Given the description of an element on the screen output the (x, y) to click on. 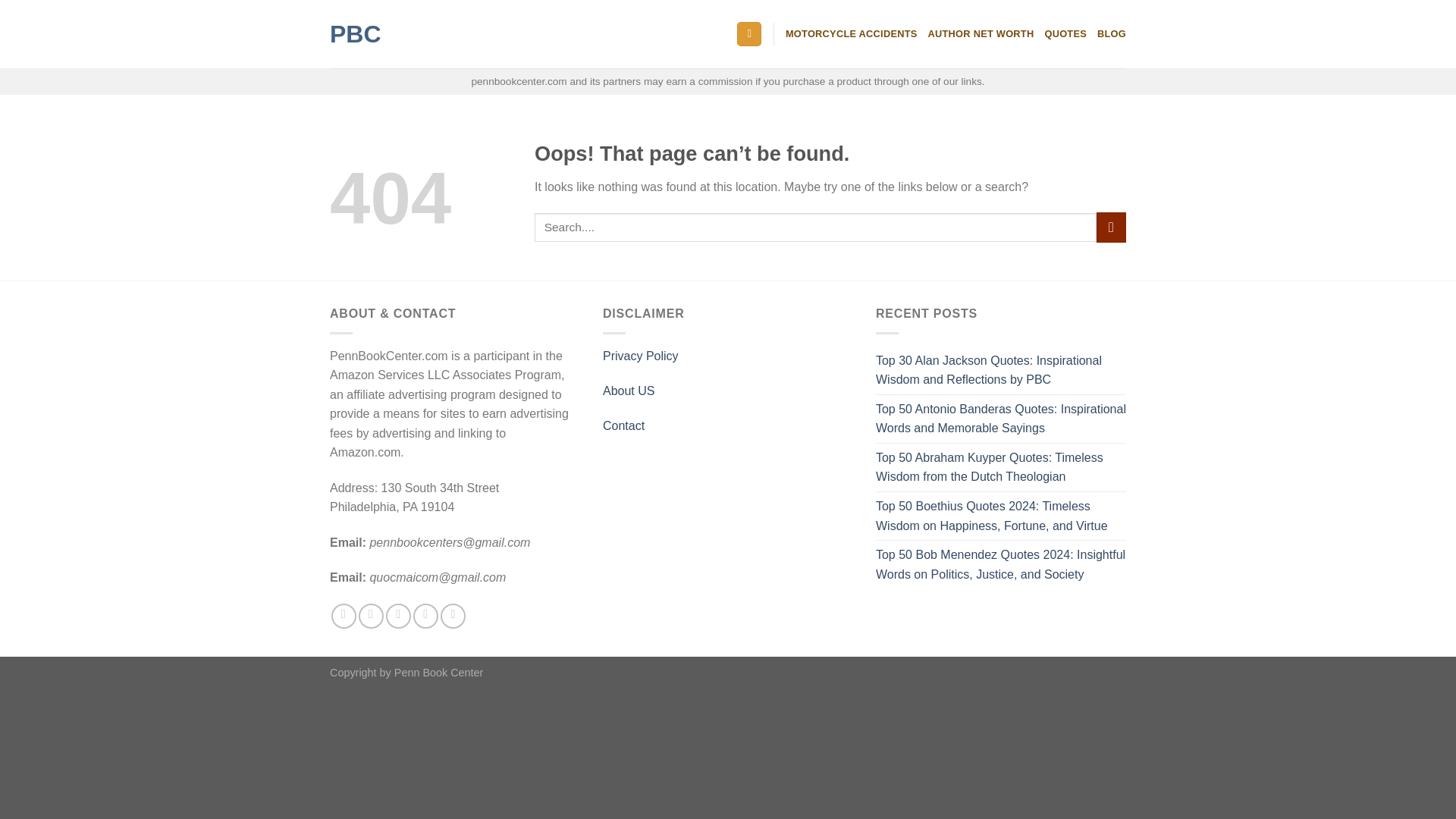
Follow on Twitter (371, 615)
Follow on YouTube (425, 615)
Privacy Policy (640, 355)
Contact (623, 425)
Follow on Pinterest (397, 615)
QUOTES (1064, 33)
MOTORCYCLE ACCIDENTS (851, 33)
Follow on Facebook (343, 615)
About US (627, 390)
Follow on Twitch (453, 615)
